Given the description of an element on the screen output the (x, y) to click on. 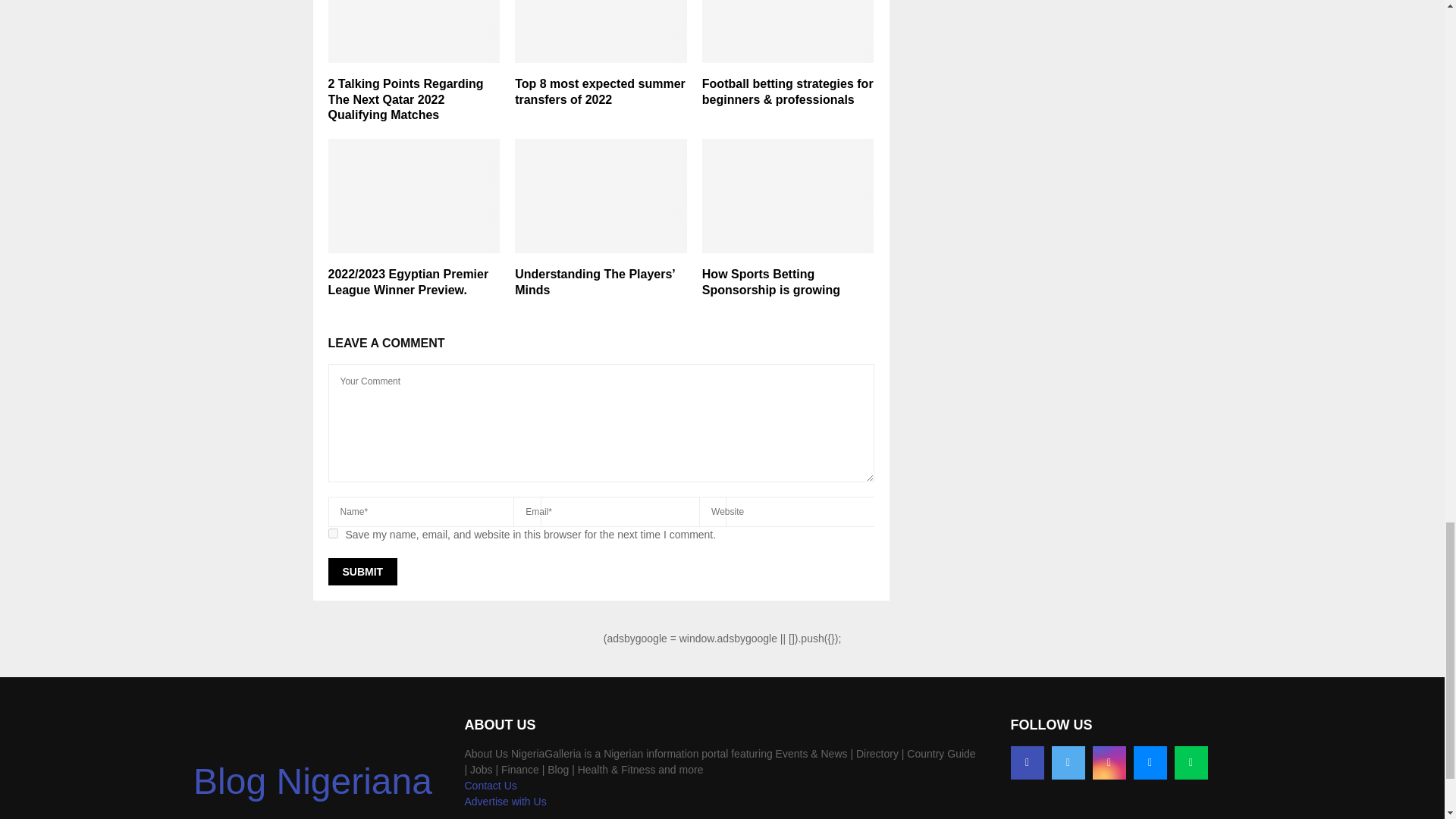
Submit (362, 571)
yes (332, 533)
